Given the description of an element on the screen output the (x, y) to click on. 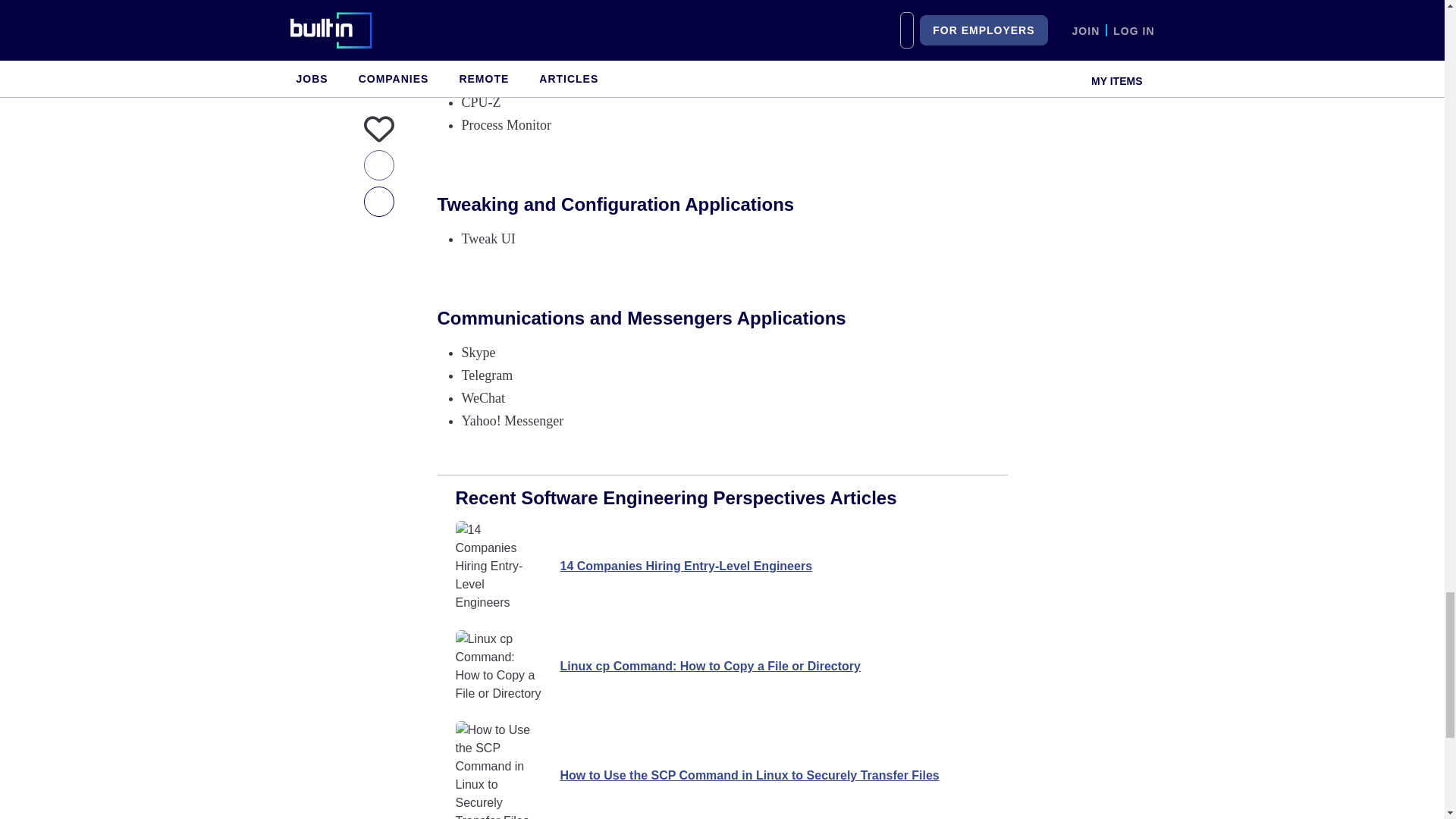
14 Companies Hiring Entry-Level Engineers (721, 565)
Linux cp Command: How to Copy a File or Directory (721, 665)
